Given the description of an element on the screen output the (x, y) to click on. 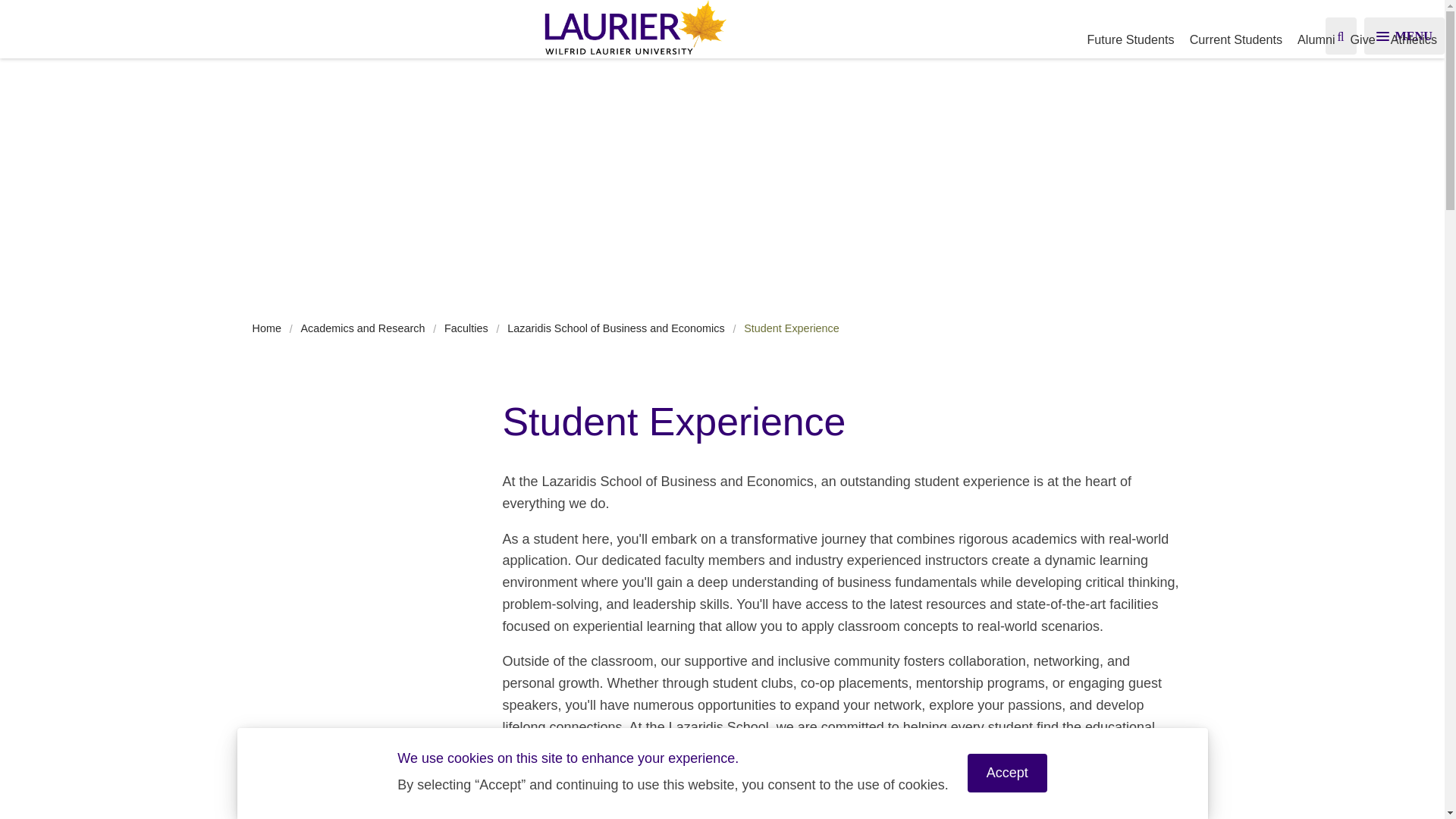
Current Students (1236, 39)
Future Students (1129, 39)
Alumni (1316, 39)
Give (1362, 39)
